Given the description of an element on the screen output the (x, y) to click on. 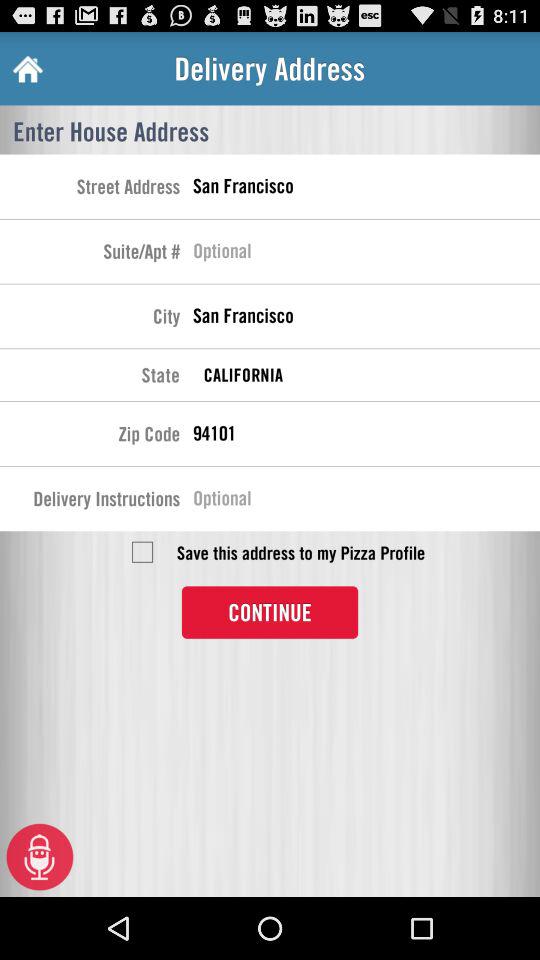
enter suite or apartment number (366, 253)
